Given the description of an element on the screen output the (x, y) to click on. 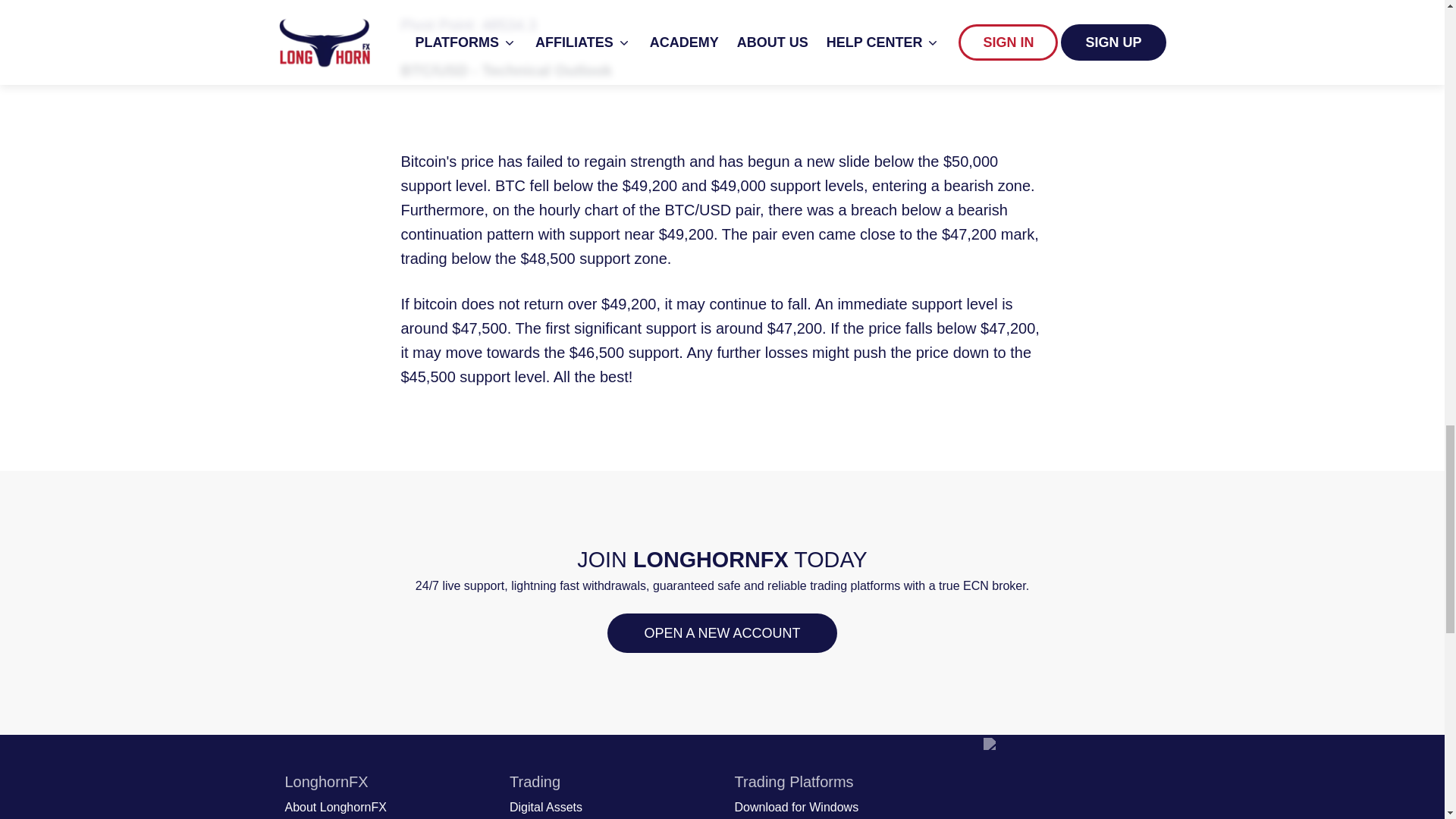
Digital Assets (545, 807)
Download for Windows (796, 807)
About LonghornFX (336, 807)
OPEN A NEW ACCOUNT (721, 632)
